Given the description of an element on the screen output the (x, y) to click on. 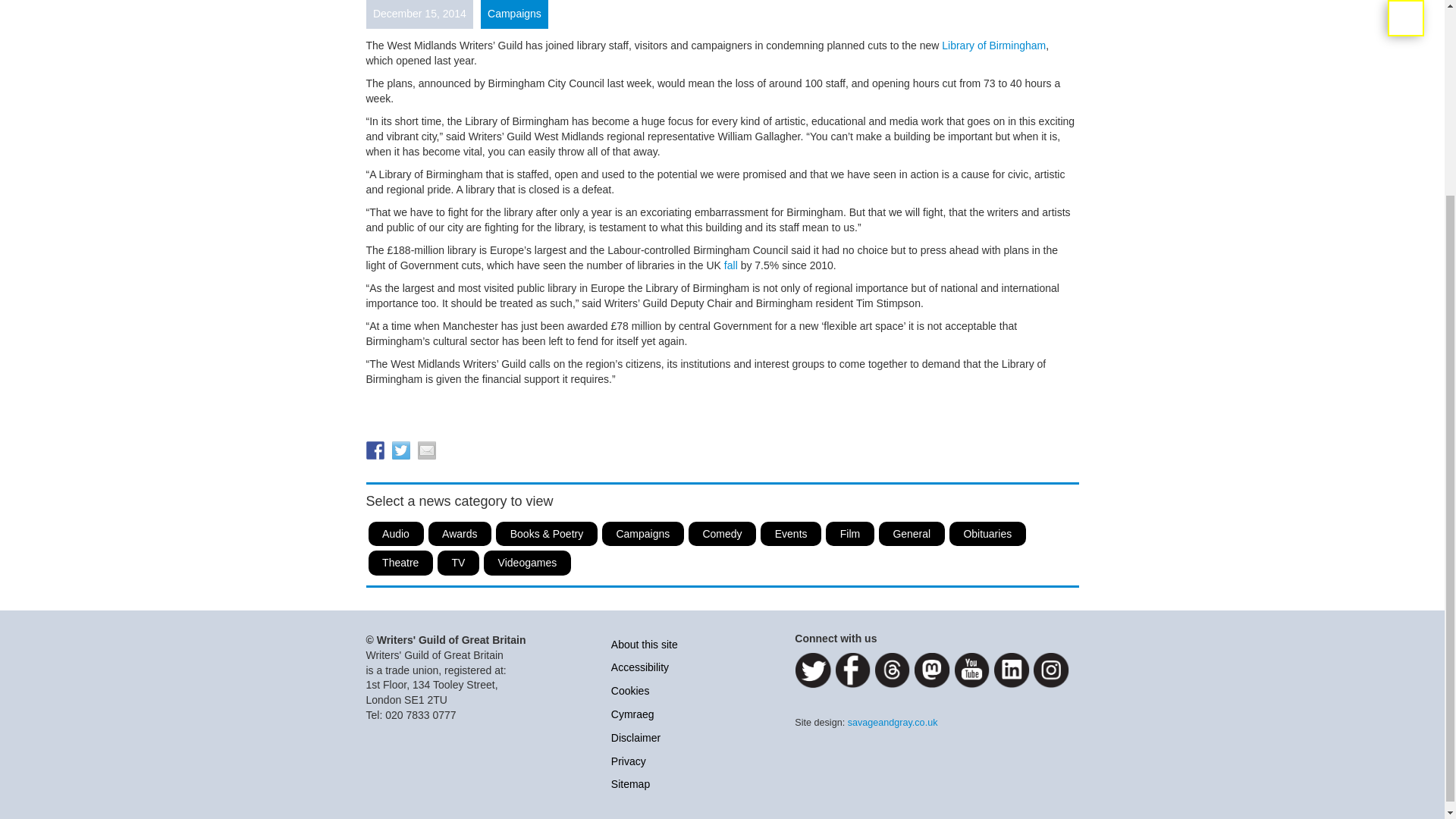
Share by email (425, 450)
Share on Twitter (400, 450)
Share on Facebook (374, 450)
